Given the description of an element on the screen output the (x, y) to click on. 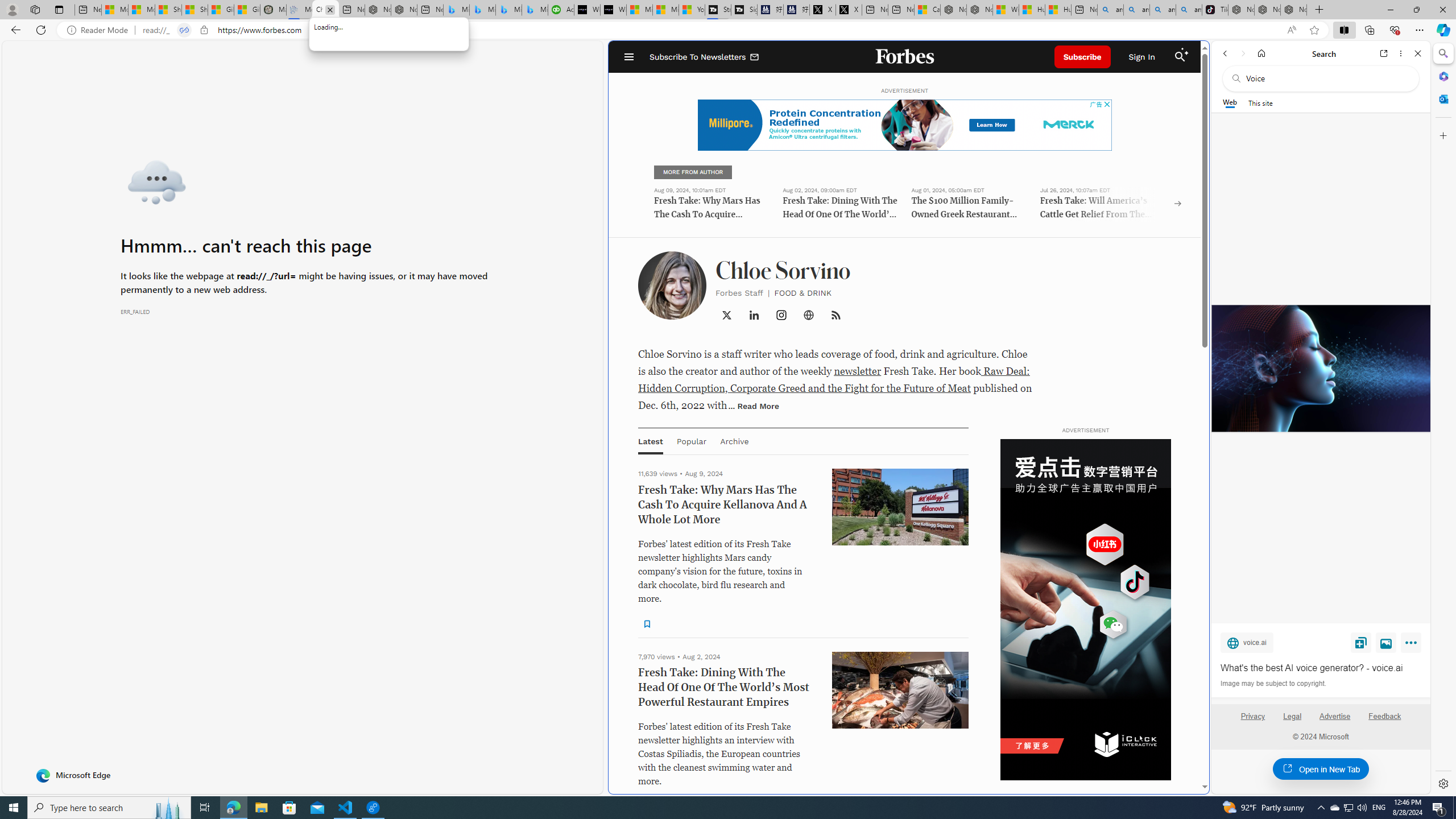
What's the best AI voice generator? - voice.ai (1320, 368)
amazon - Search (1136, 9)
Home (1261, 53)
Nordace - Best Sellers (1241, 9)
Huge shark washes ashore at New York City beach | Watch (1057, 9)
Privacy (1252, 720)
... Read More (753, 405)
Subscribe To Newsletters (704, 56)
Forward (1242, 53)
Reader Mode (100, 29)
